Given the description of an element on the screen output the (x, y) to click on. 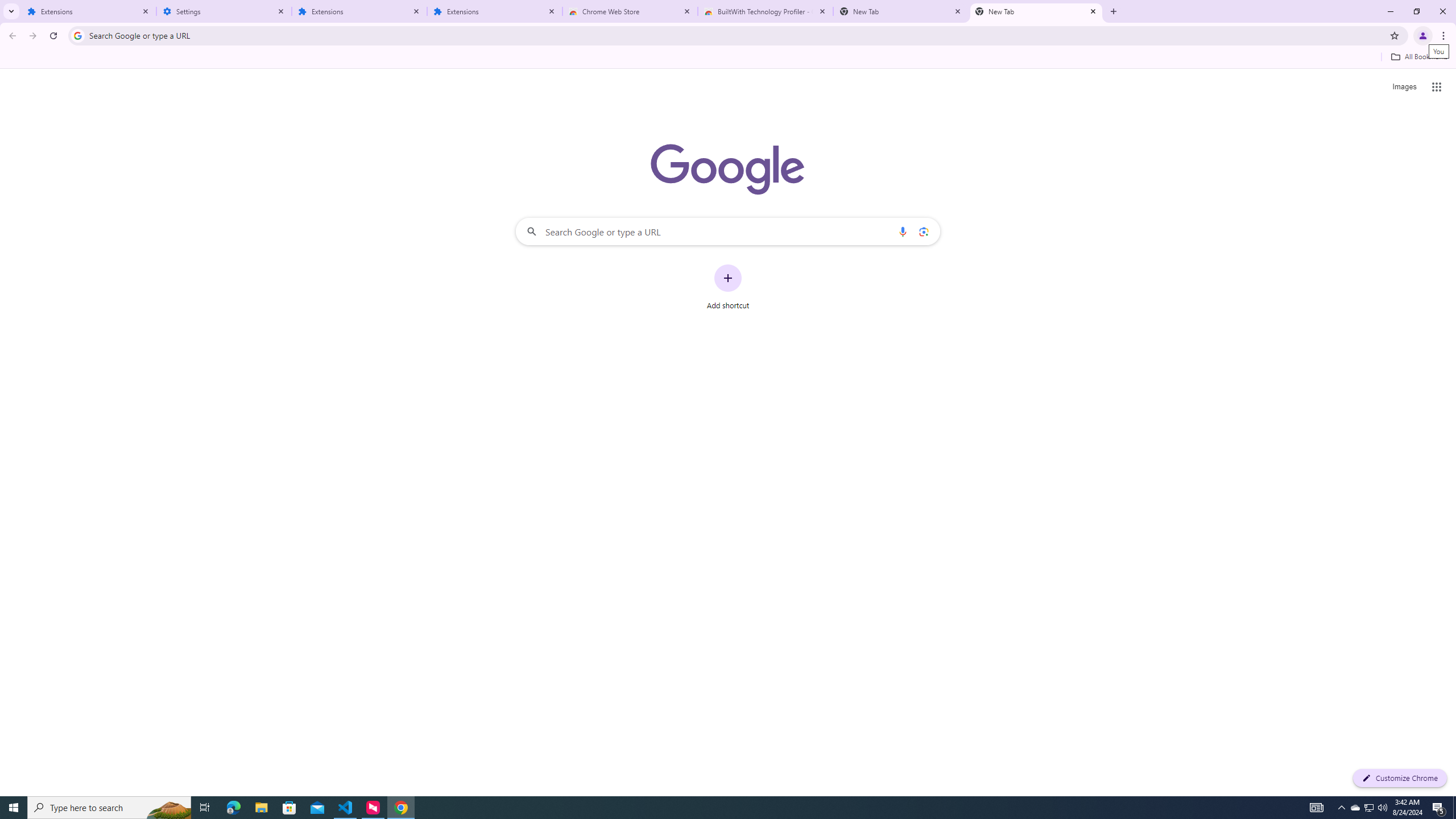
All Bookmarks (1418, 56)
Extensions (494, 11)
Settings (224, 11)
